Given the description of an element on the screen output the (x, y) to click on. 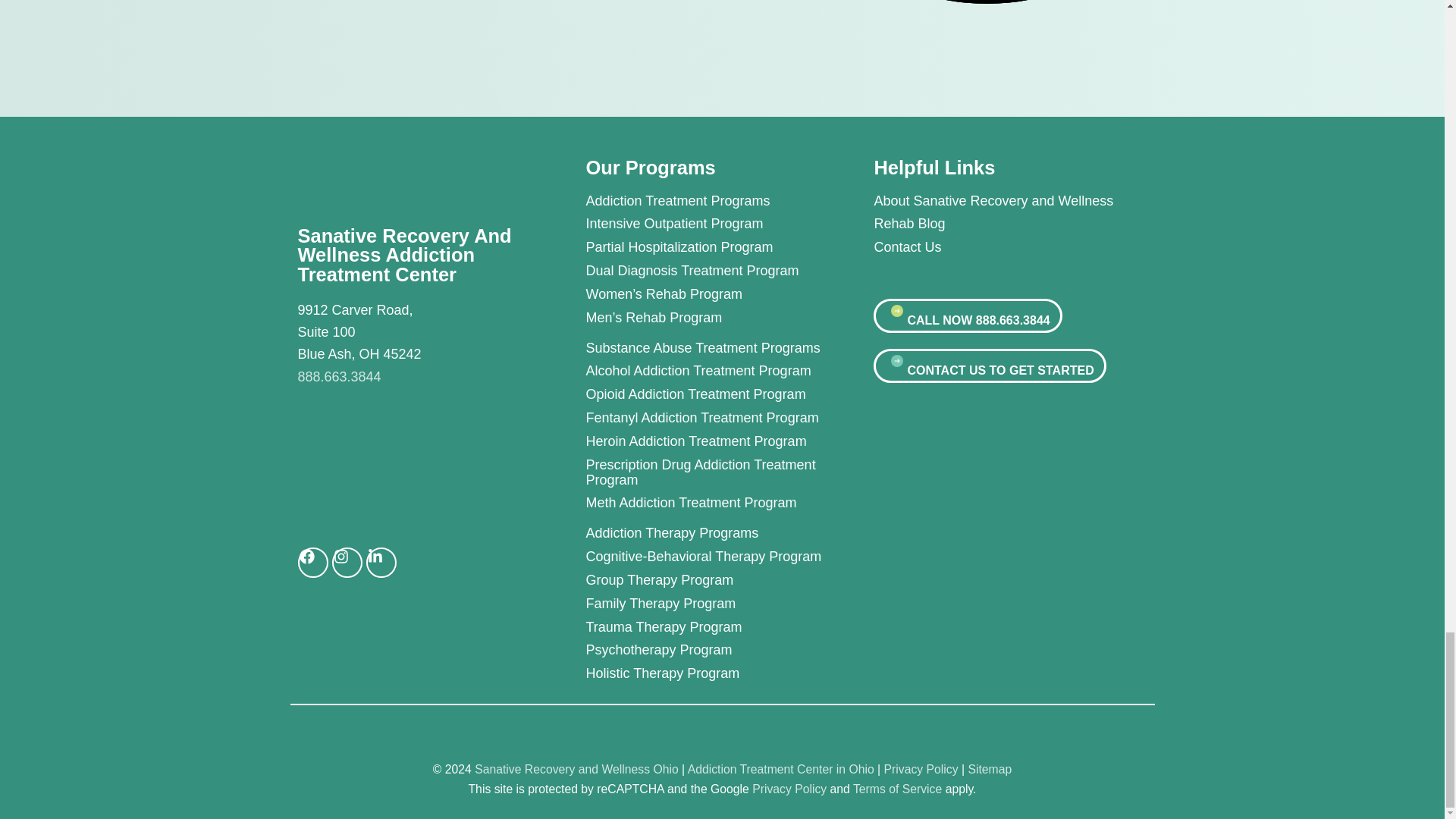
Addiction Treatment Programs (691, 200)
9912 Carver Road Suite 100 Blue Ash, OH 45242 (406, 459)
Alcohol Addiction Treatment Program (722, 370)
Intensive Outpatient Program (691, 223)
Partial Hospitalization Program (691, 246)
Substance Abuse Treatment Programs (722, 347)
Dual Diagnosis Treatment Program (691, 270)
